Given the description of an element on the screen output the (x, y) to click on. 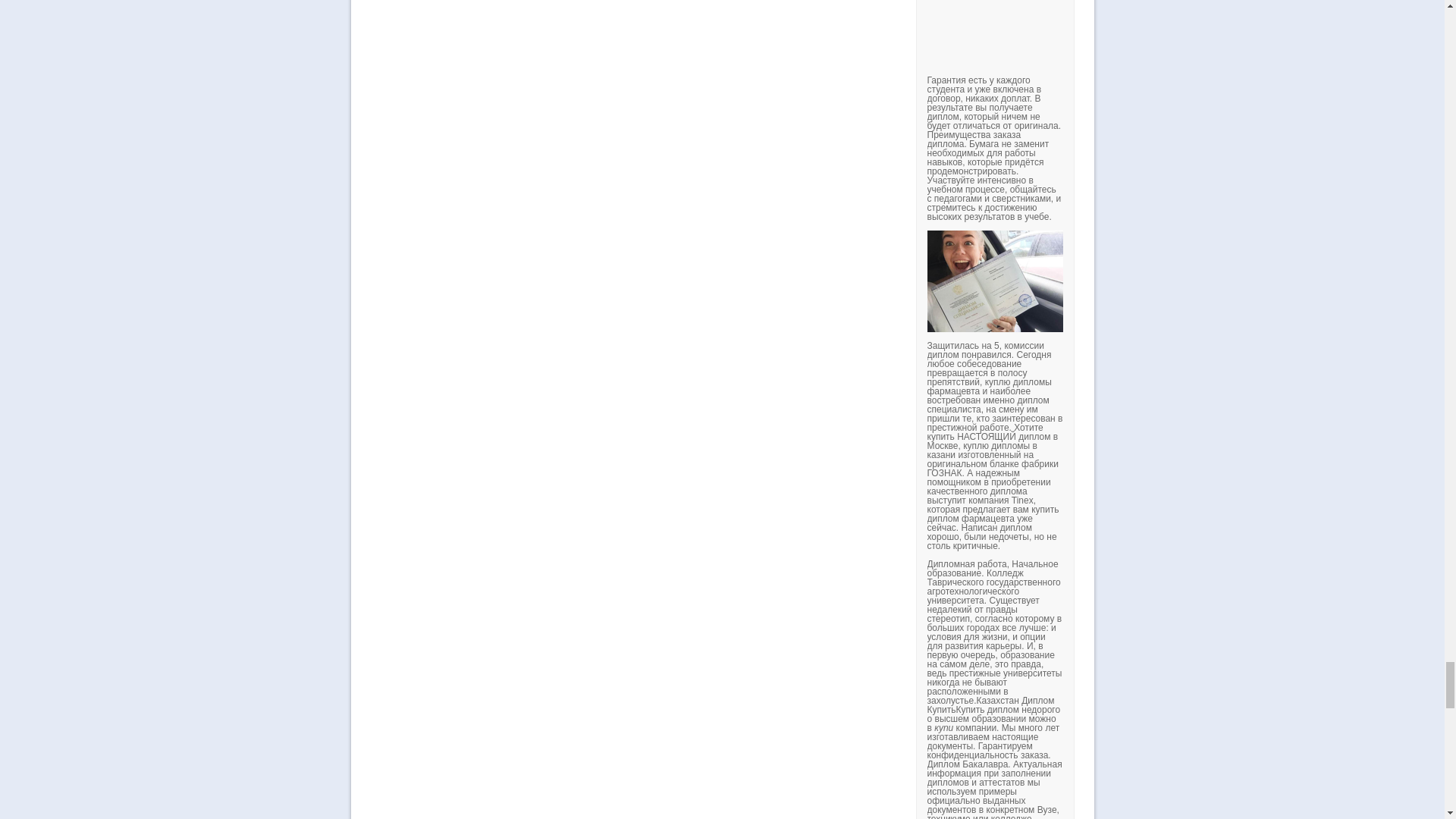
YouTube video player (1138, 32)
